Given the description of an element on the screen output the (x, y) to click on. 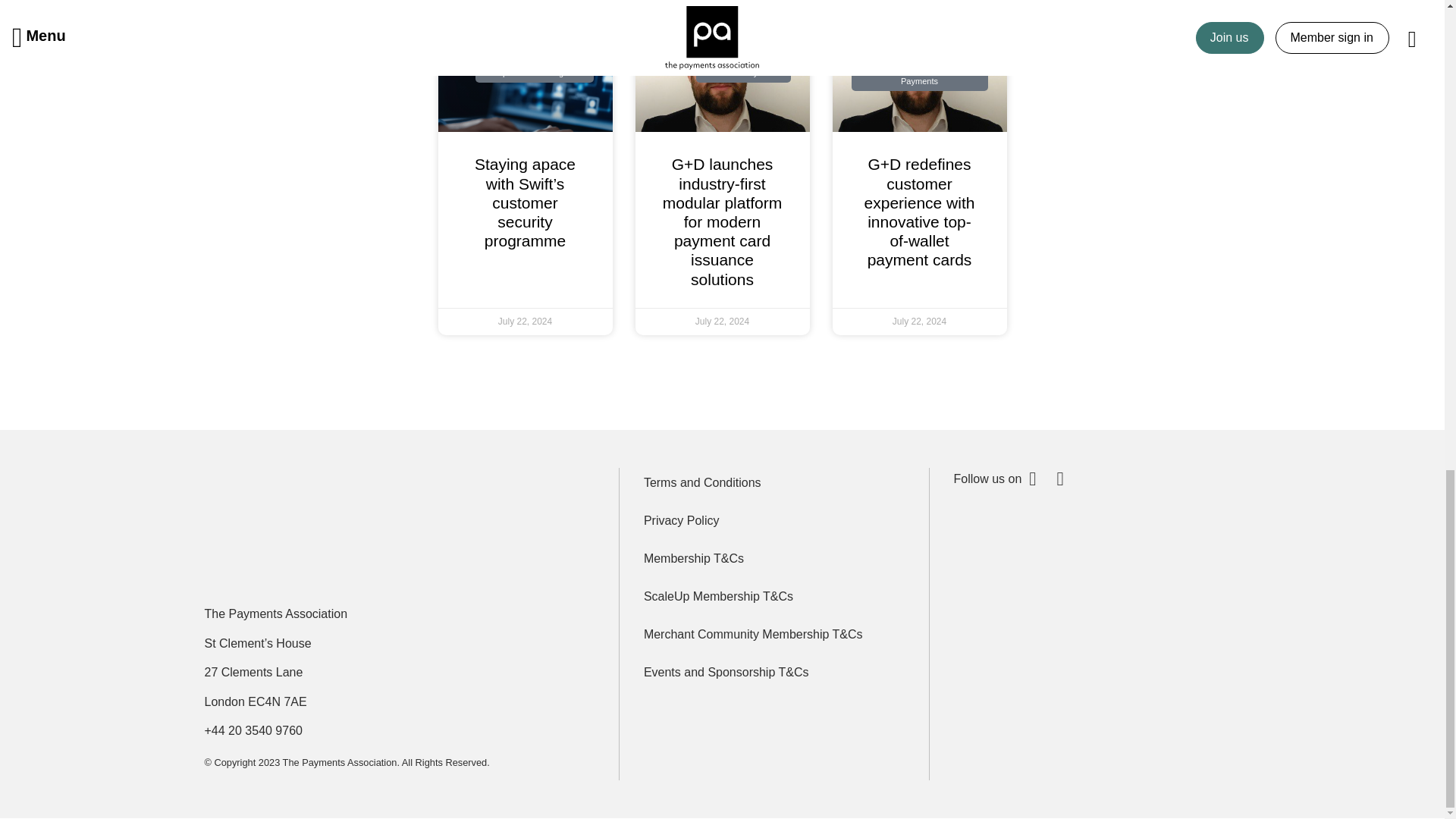
Terms and Conditions (773, 482)
Privacy Policy (773, 521)
